Given the description of an element on the screen output the (x, y) to click on. 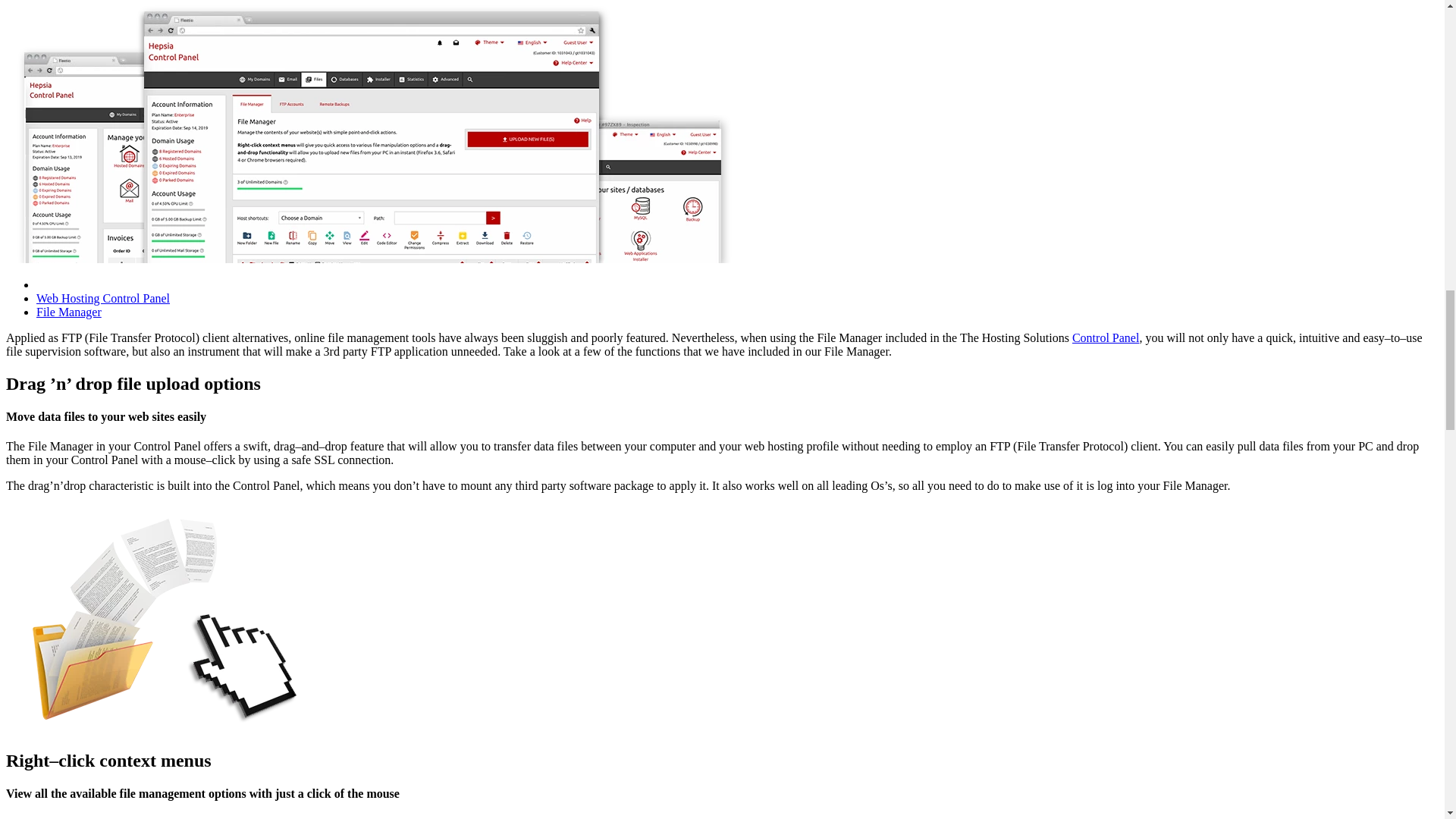
Hepsia File Manager (156, 618)
Control Panel (1104, 337)
